Given the description of an element on the screen output the (x, y) to click on. 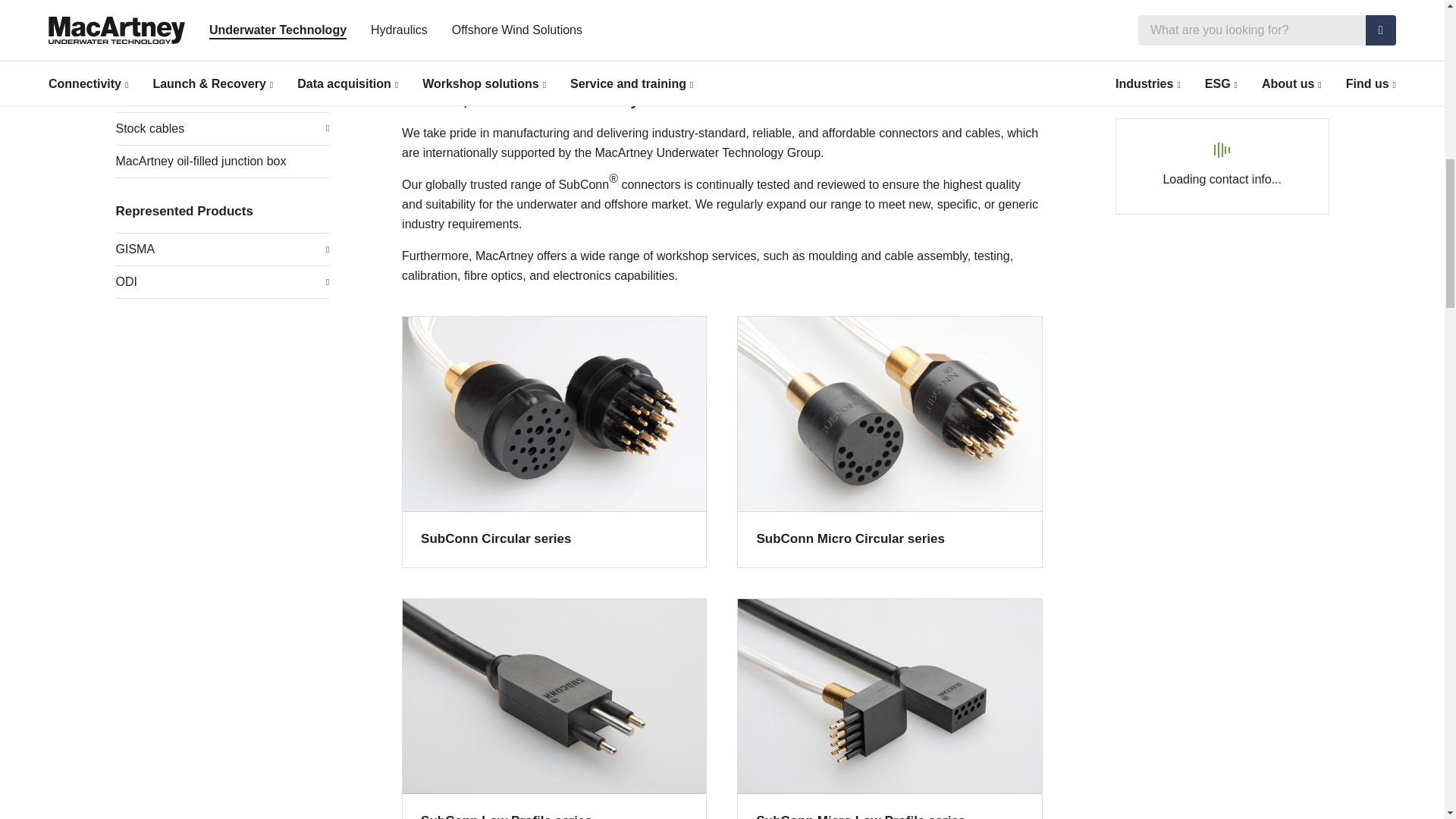
SubConn Micro Circular series (889, 441)
SubConn Circular series (553, 441)
SubConn Micro Low Profile series (889, 708)
SubConn Low Profile series (553, 708)
